Given the description of an element on the screen output the (x, y) to click on. 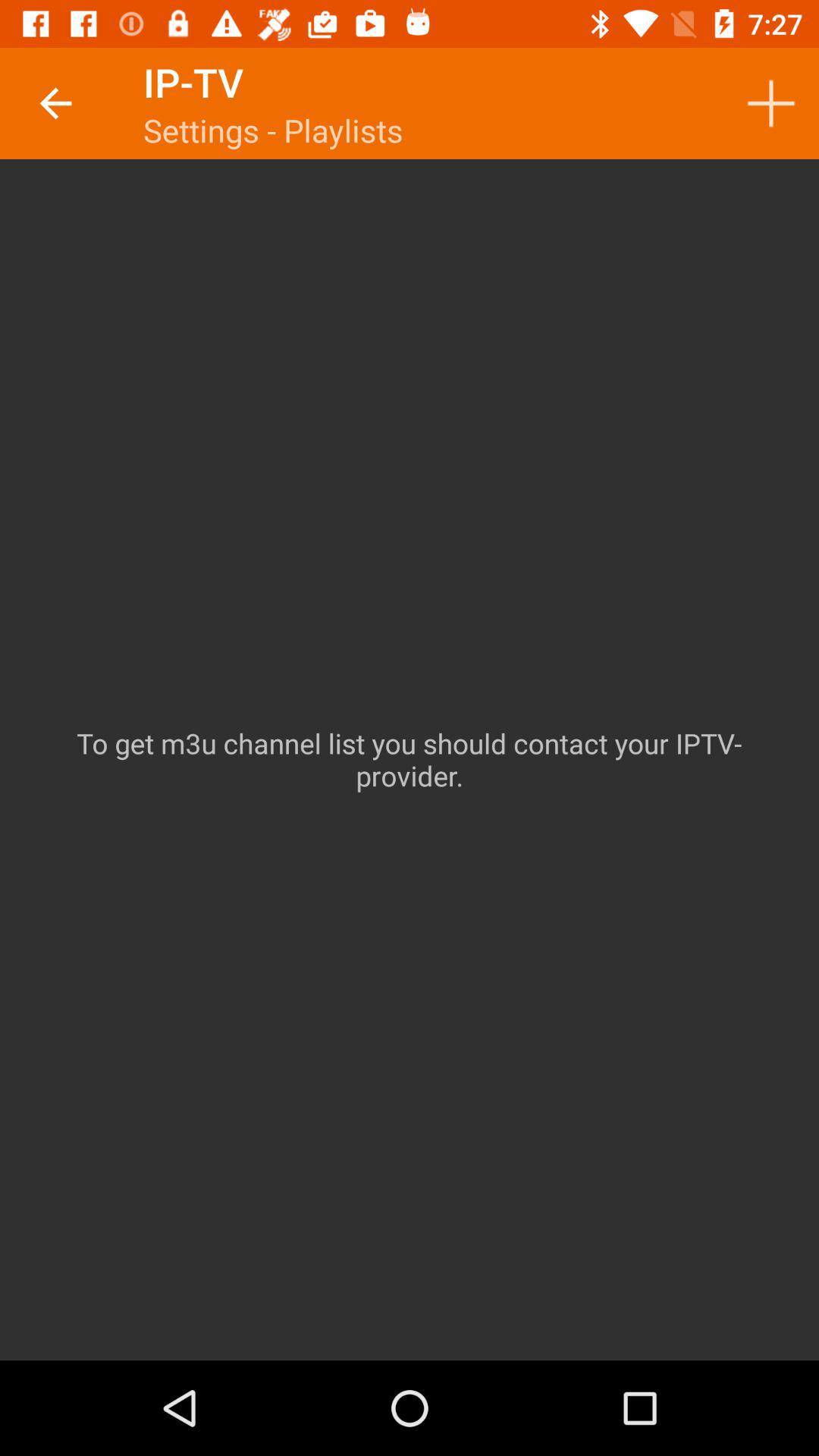
open icon to the right of the settings - playlists item (771, 103)
